Given the description of an element on the screen output the (x, y) to click on. 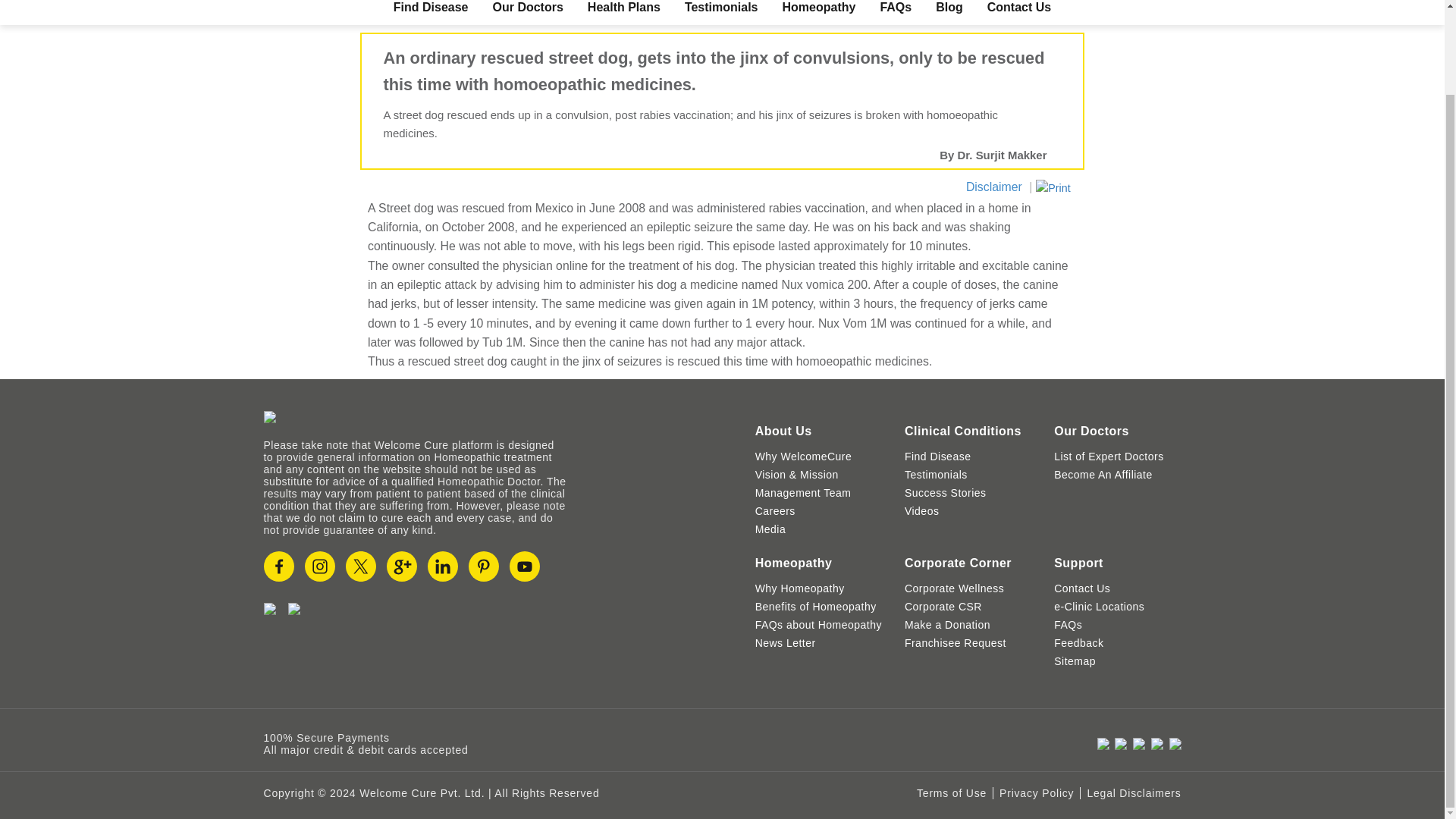
FAQs (895, 6)
By Dr. Surjit Makker (992, 154)
Blog (949, 6)
Homeopathy (819, 6)
Contact Us (1019, 6)
Disclaimer (994, 186)
Find Disease (430, 6)
Testimonials (721, 6)
Health Plans (624, 6)
Our Doctors (528, 6)
